Given the description of an element on the screen output the (x, y) to click on. 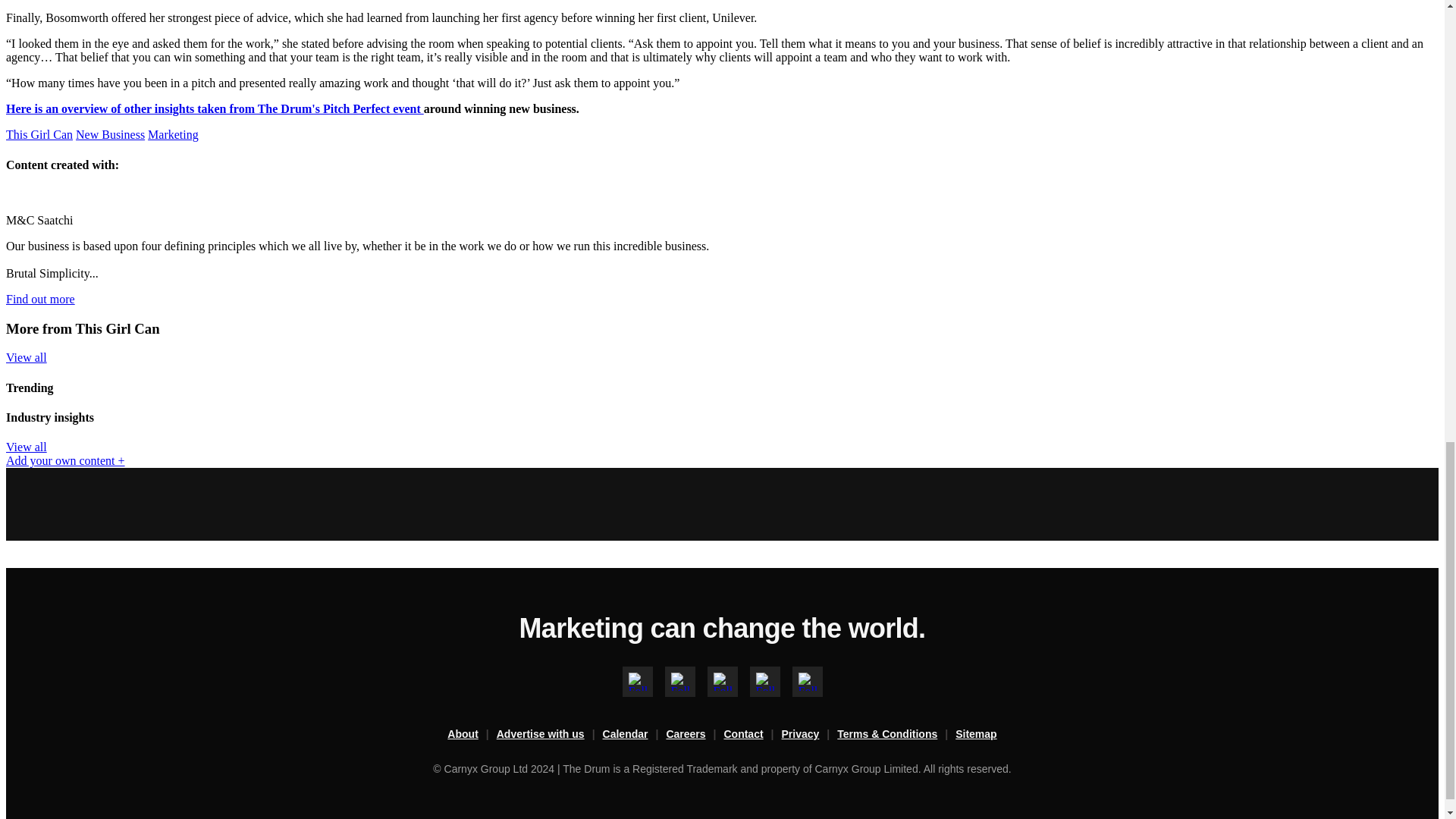
View all (25, 446)
View all (25, 357)
This Girl Can (38, 133)
About (471, 734)
New Business (109, 133)
Marketing (173, 133)
Find out more (40, 298)
